Given the description of an element on the screen output the (x, y) to click on. 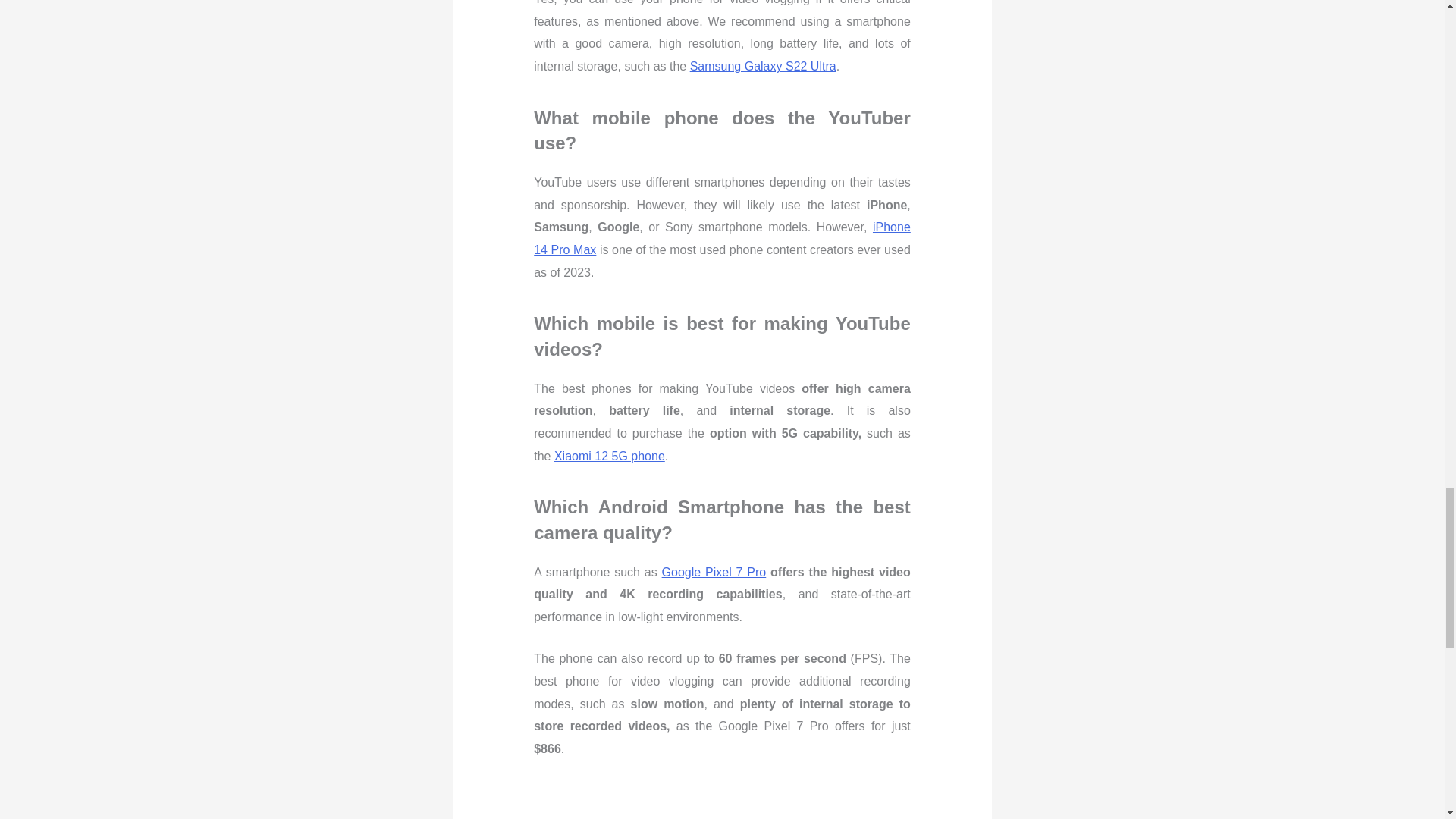
Xiaomi 12 5G phone (609, 455)
Samsung Galaxy S22 Ultra (762, 65)
iPhone 14 Pro Max (722, 238)
Google Pixel 7 Pro (714, 571)
